Given the description of an element on the screen output the (x, y) to click on. 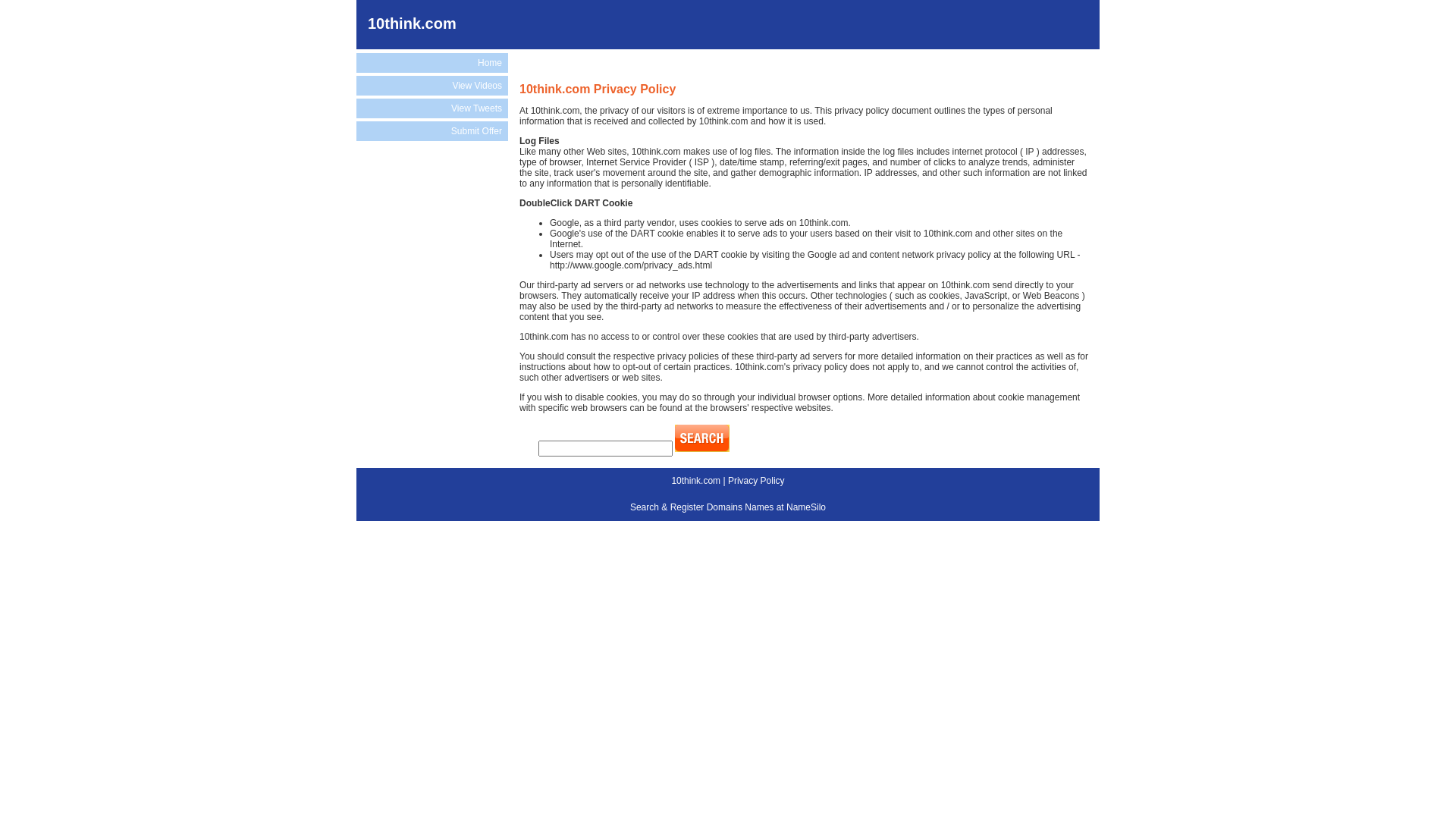
Home Element type: text (432, 62)
View Tweets Element type: text (432, 108)
View Videos Element type: text (432, 85)
Privacy Policy Element type: text (756, 480)
Submit Offer Element type: text (432, 131)
Search & Register Domains Names at NameSilo Element type: text (727, 507)
